Given the description of an element on the screen output the (x, y) to click on. 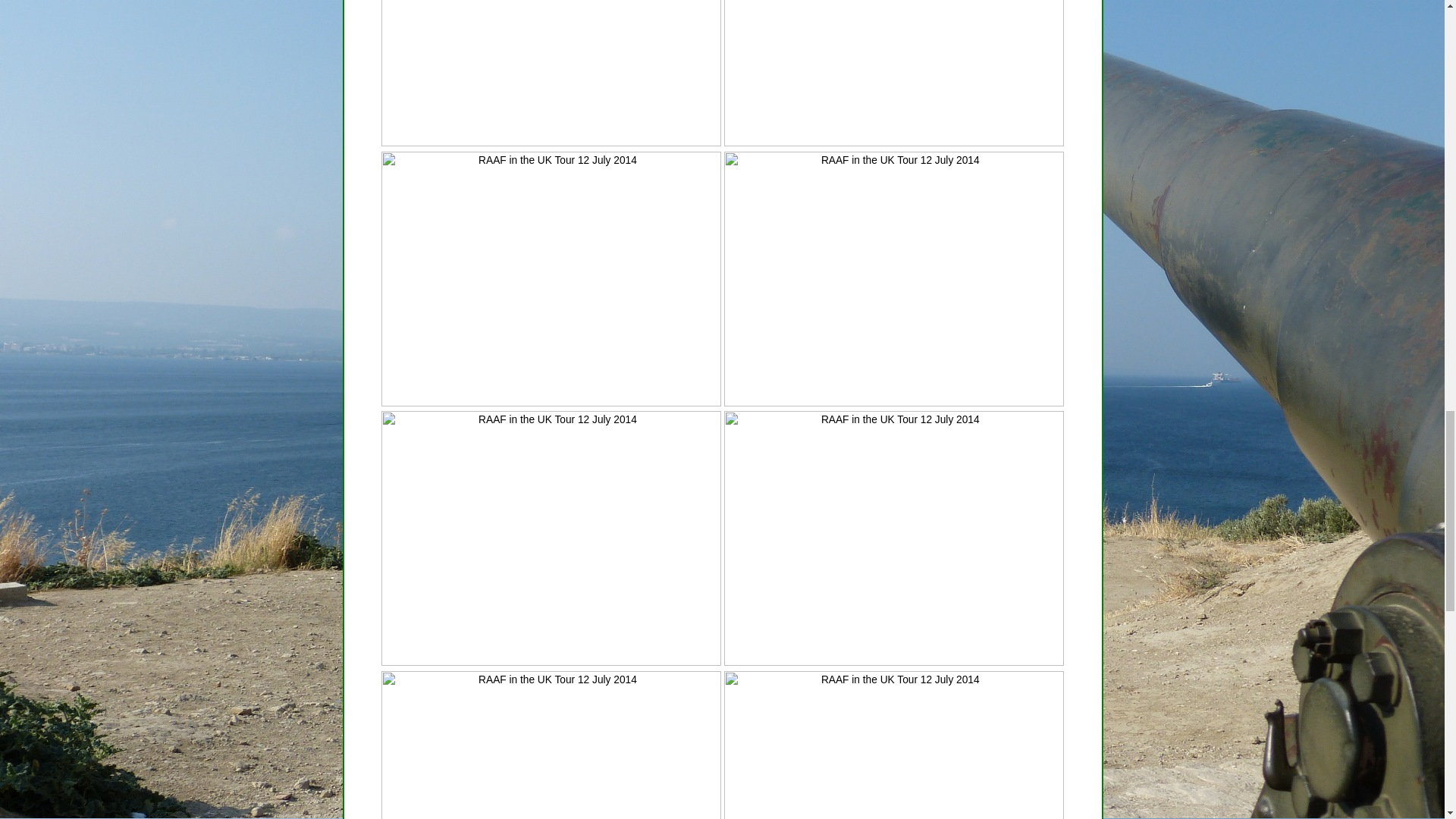
RAAF in the UK Tour 12 July 2014 (550, 744)
RAAF in the UK Tour 12 July 2014 (893, 73)
RAAF in the UK Tour 12 July 2014 (893, 278)
RAAF in the UK Tour 12 July 2014 (893, 744)
RAAF in the UK Tour 12 July 2014 (550, 538)
RAAF in the UK Tour 12 July 2014 (550, 73)
RAAF in the UK Tour 12 July 2014 (893, 538)
RAAF in the UK Tour 12 July 2014 (550, 278)
